Given the description of an element on the screen output the (x, y) to click on. 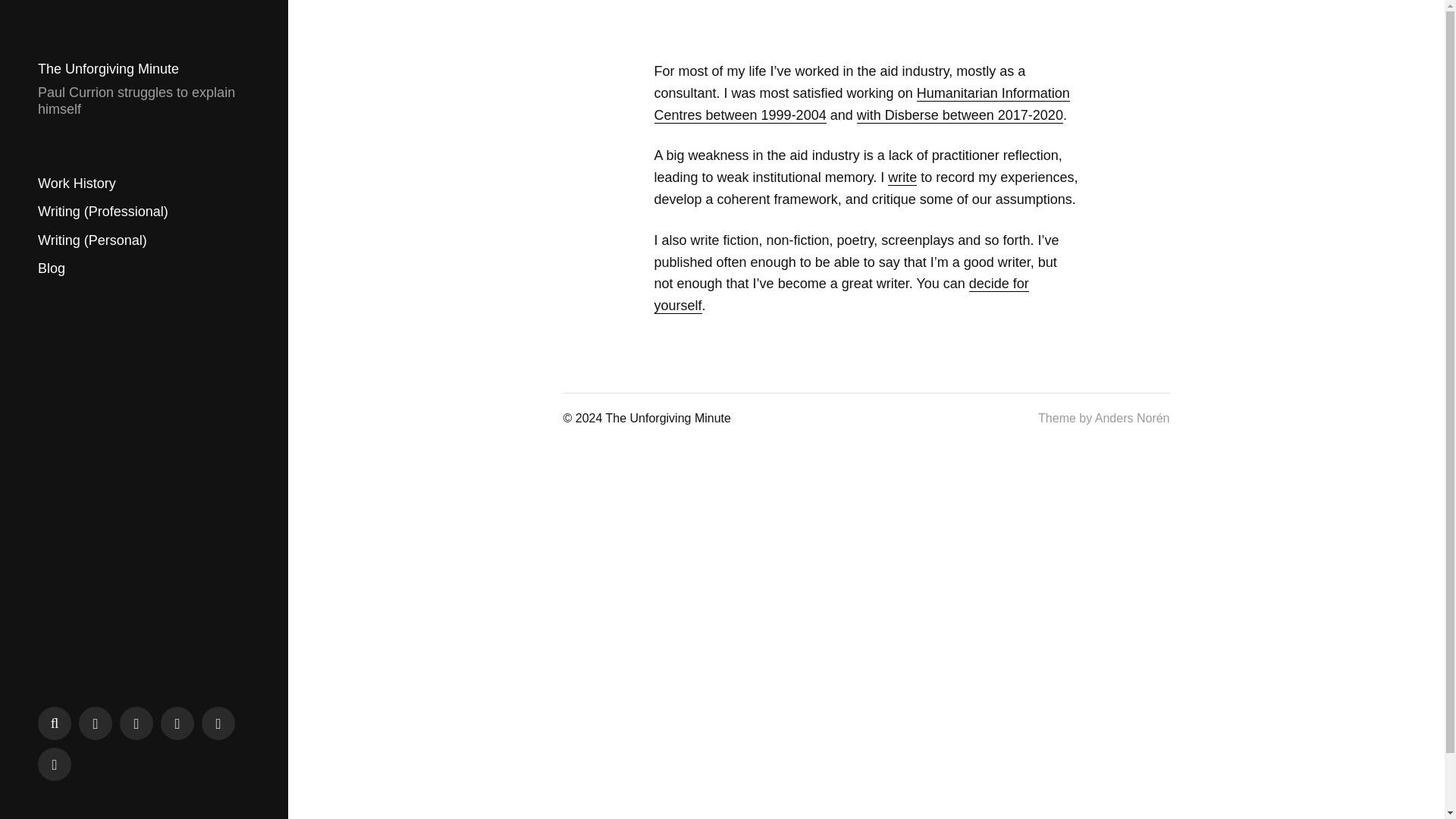
The Unforgiving Minute (108, 68)
Humanitarian Information Centres between 1999-2004 (860, 104)
decide for yourself (840, 294)
write (902, 177)
Blog (51, 268)
The Unforgiving Minute (667, 418)
with Disberse between 2017-2020 (959, 115)
Work History (76, 183)
